Given the description of an element on the screen output the (x, y) to click on. 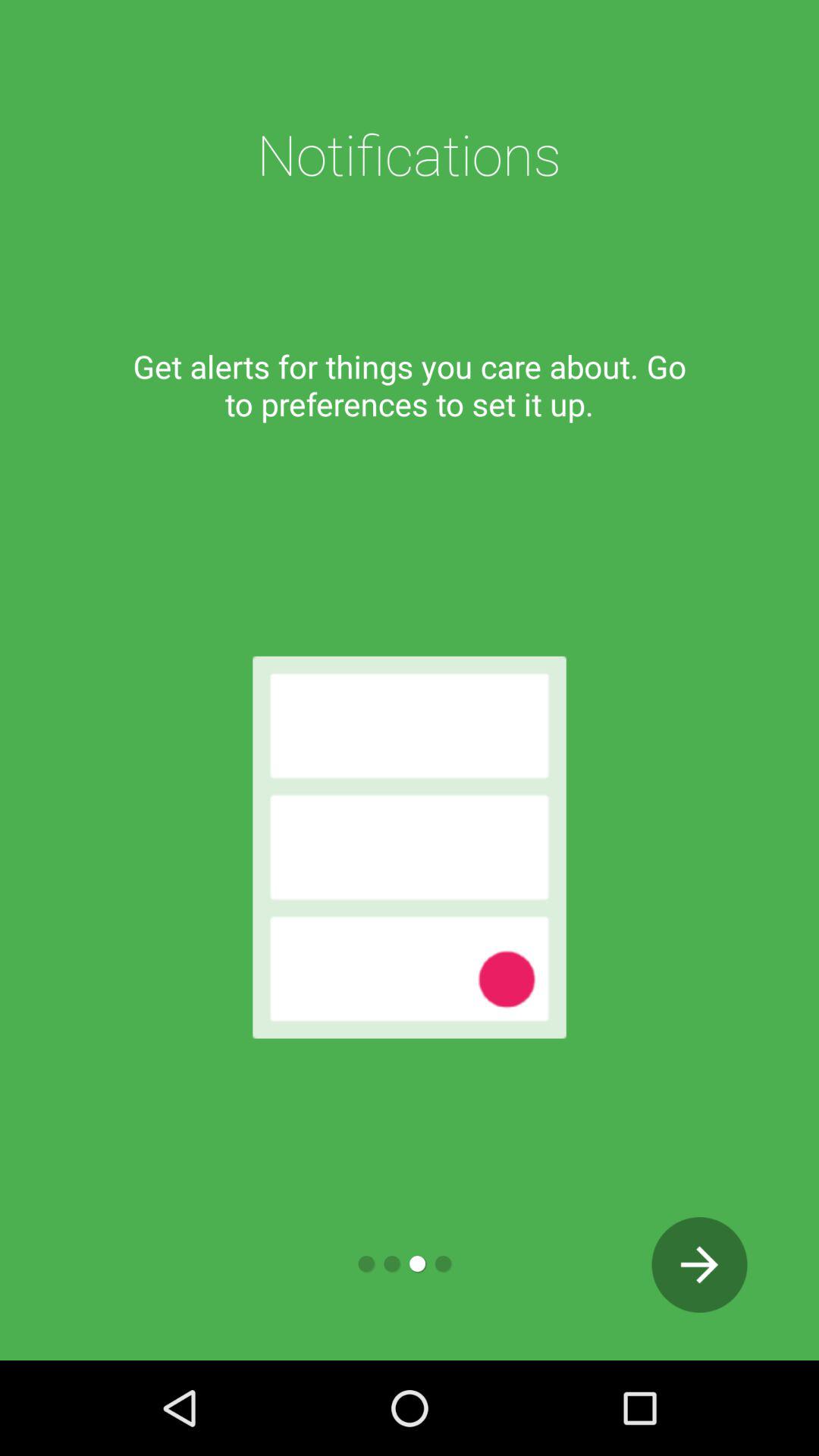
go to the next page (699, 1264)
